Given the description of an element on the screen output the (x, y) to click on. 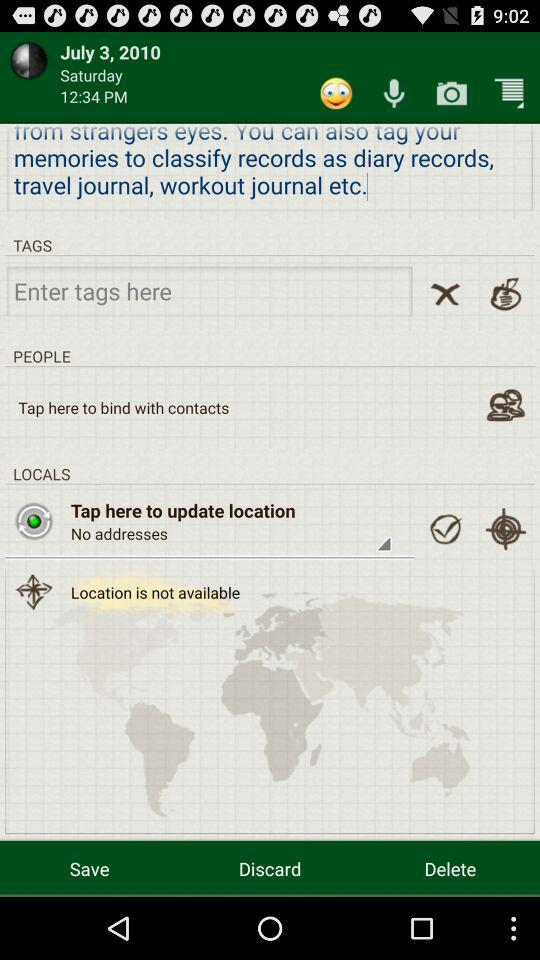
select discard icon (270, 868)
